Given the description of an element on the screen output the (x, y) to click on. 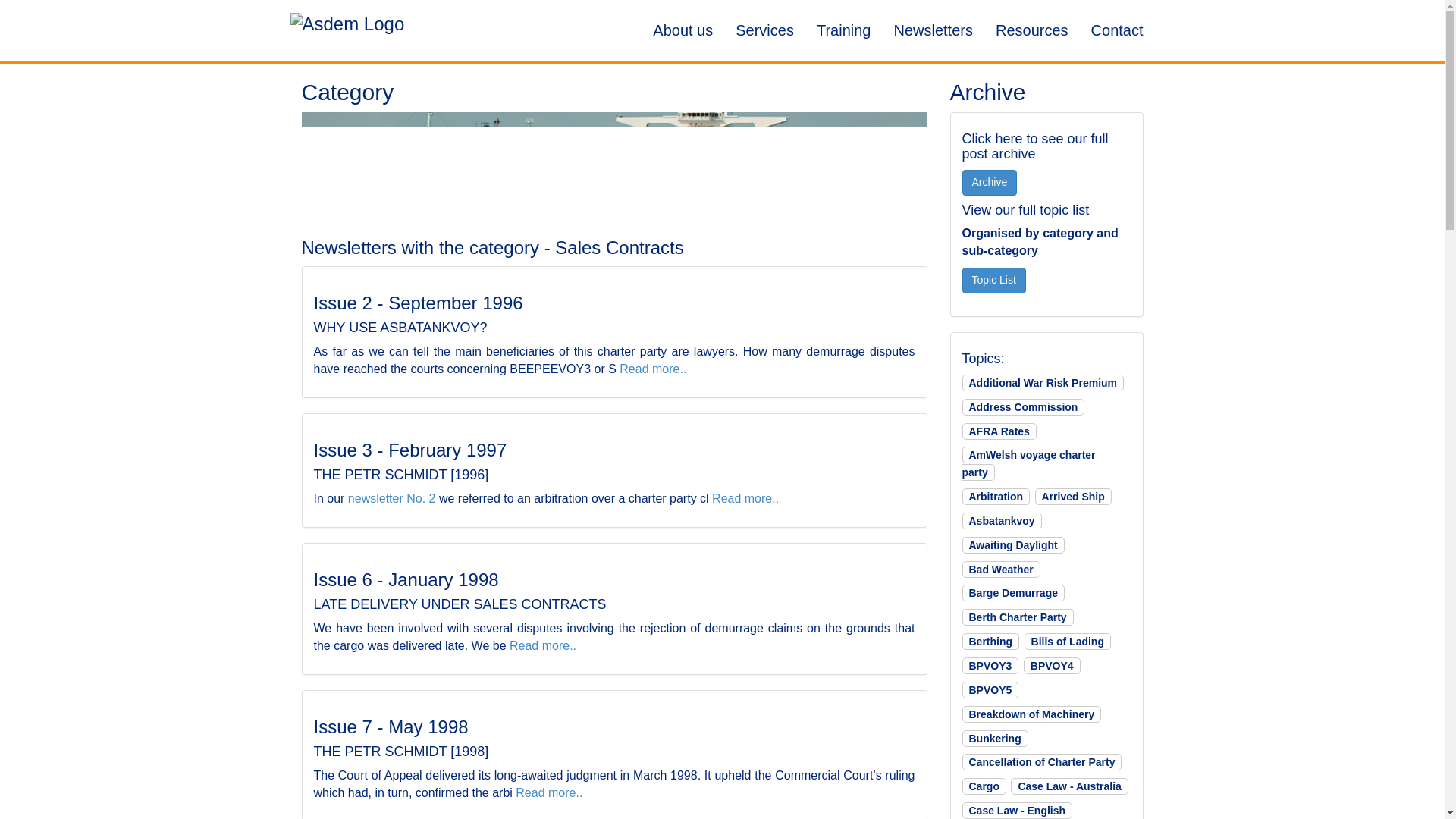
newsletter No. 2 (391, 498)
Read more.. (542, 645)
About us (682, 30)
Read more.. (744, 498)
Training (843, 30)
Contact (1117, 30)
Read more.. (652, 368)
Read more.. (548, 792)
Services (764, 30)
Resources (1032, 30)
